Given the description of an element on the screen output the (x, y) to click on. 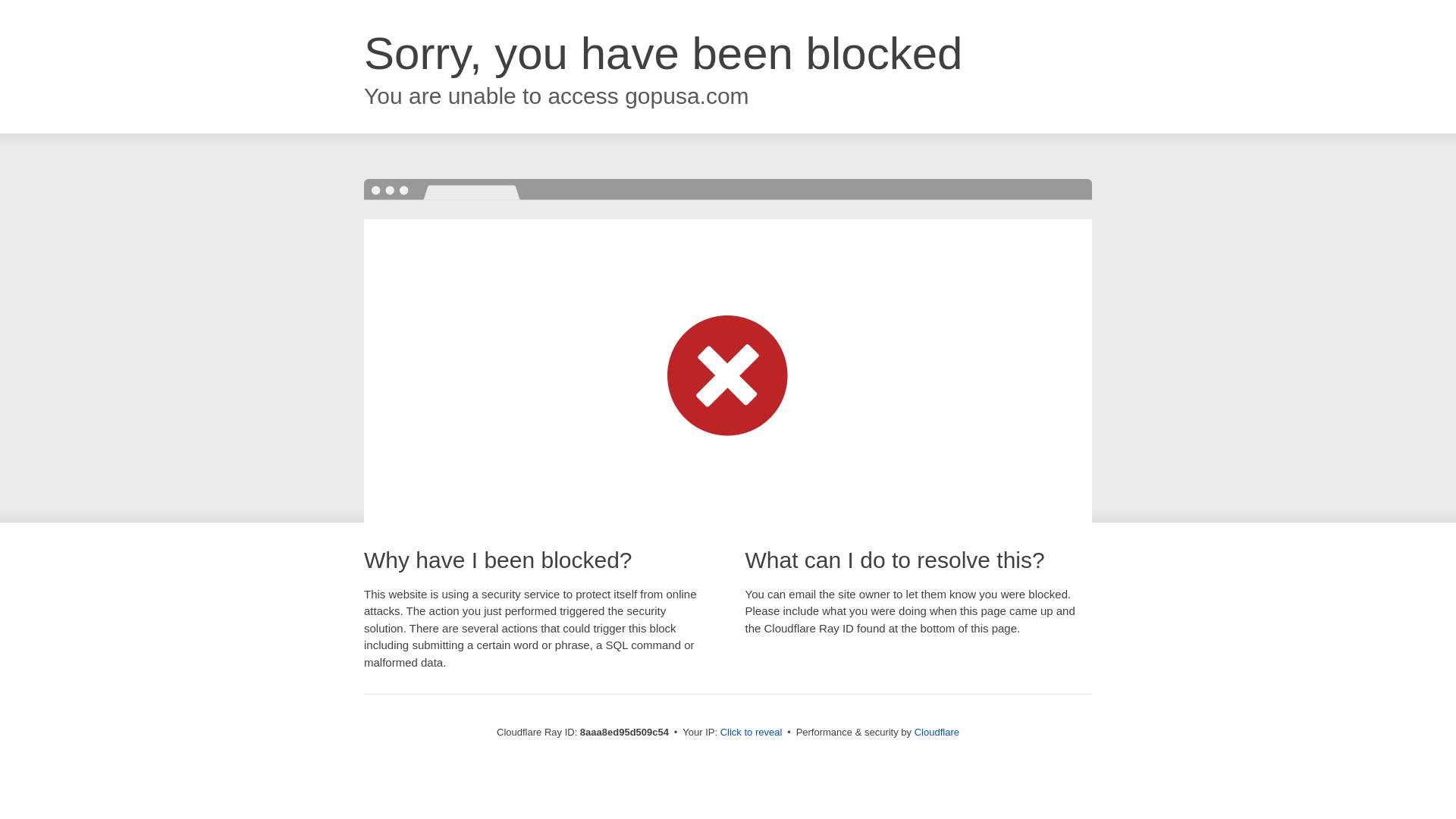
Click to reveal (751, 732)
Cloudflare (936, 731)
